Given the description of an element on the screen output the (x, y) to click on. 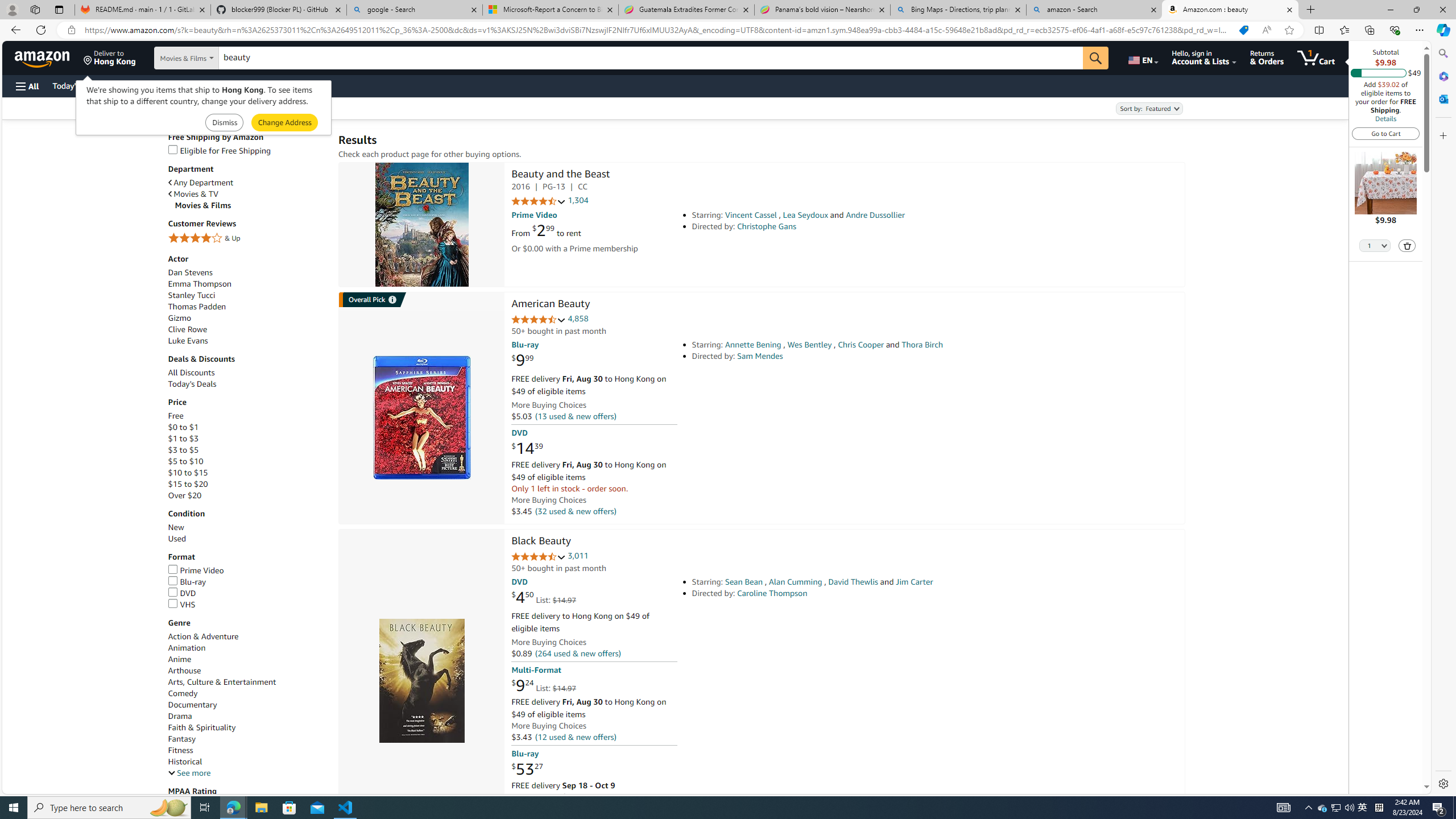
(264 used & new offers) (577, 653)
Beauty and the Beast (421, 224)
All Discounts (247, 372)
Black Beauty (421, 681)
Black Beauty (541, 541)
Returns & Orders (1266, 57)
Caroline Thompson (772, 593)
